Given the description of an element on the screen output the (x, y) to click on. 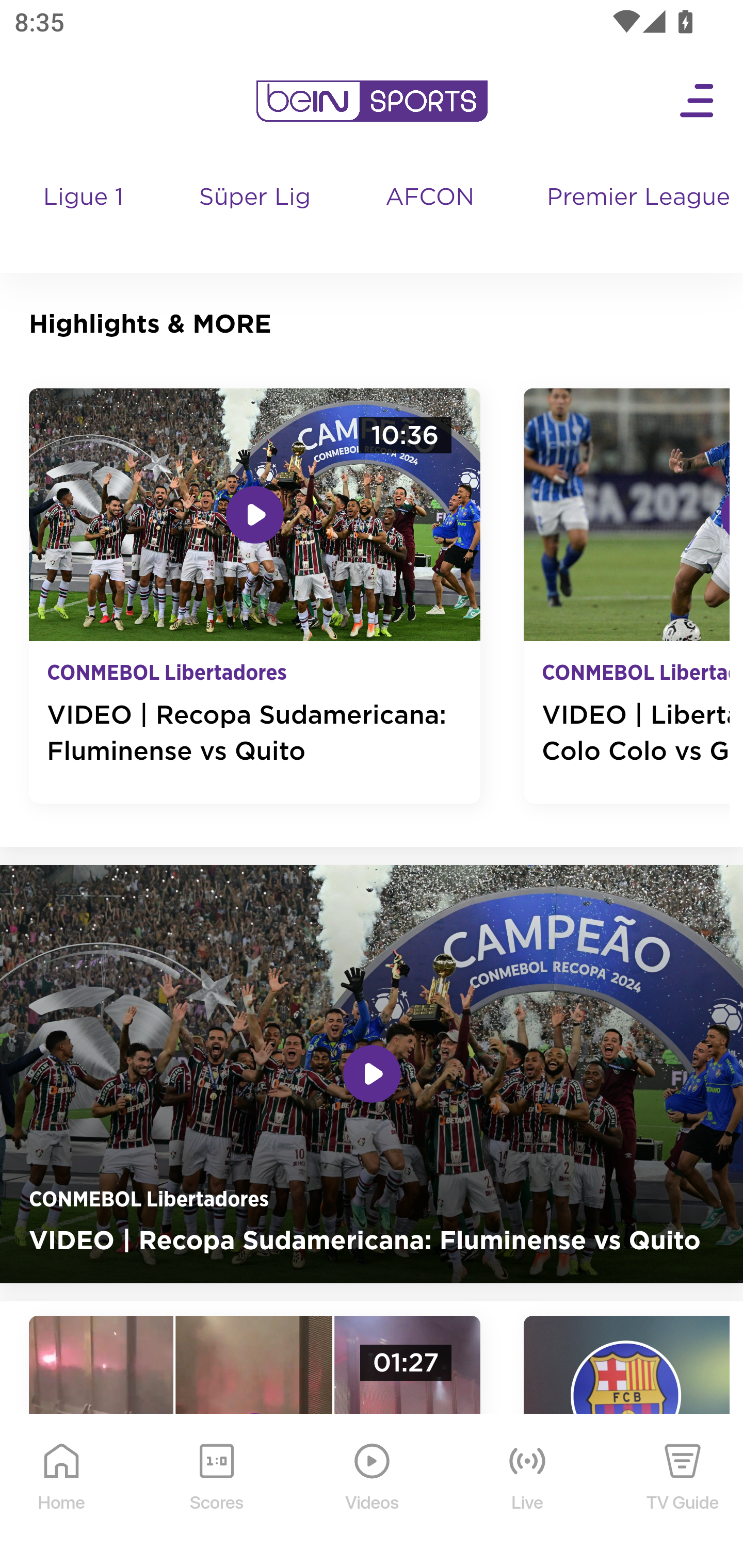
en-us?platform=mobile_android bein logo (371, 101)
Open Menu Icon (697, 101)
Ligue 1 (84, 216)
Süper Lig (256, 216)
AFCON (429, 198)
Premier League (637, 198)
Home Home Icon Home (61, 1491)
Scores Scores Icon Scores (216, 1491)
Videos Videos Icon Videos (372, 1491)
TV Guide TV Guide Icon TV Guide (682, 1491)
